Given the description of an element on the screen output the (x, y) to click on. 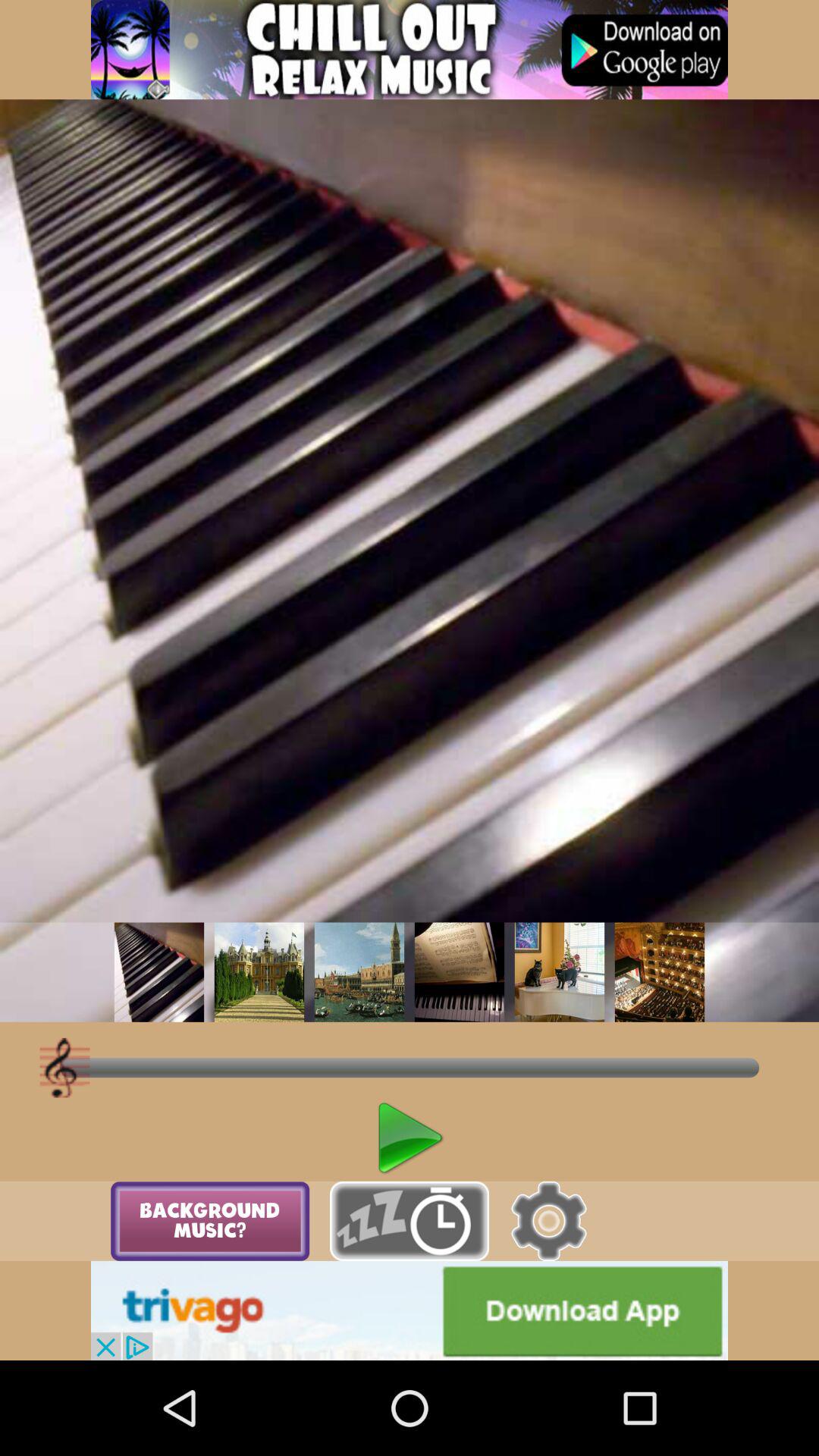
thumbnail (559, 972)
